Given the description of an element on the screen output the (x, y) to click on. 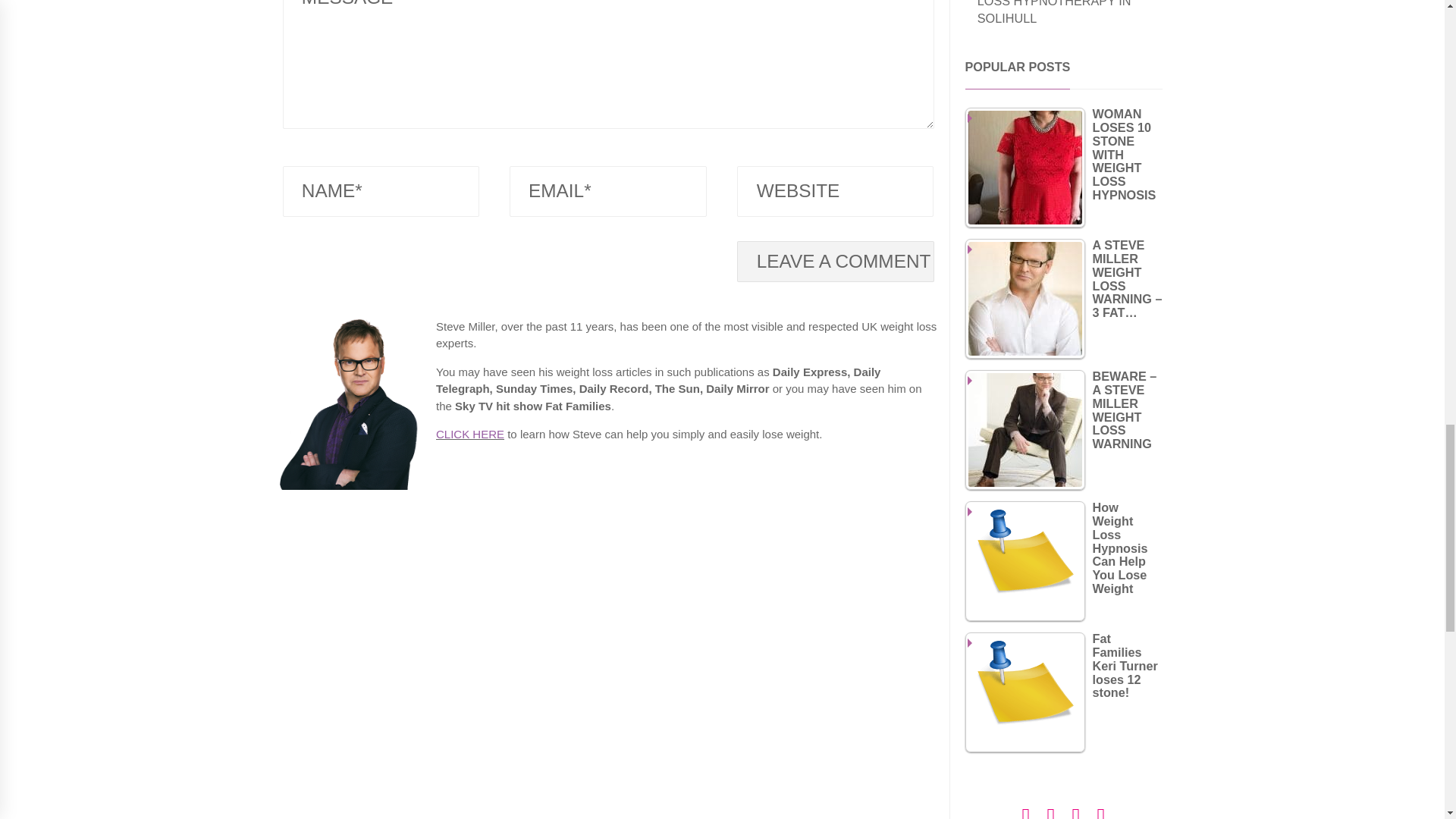
Fat Families Keri Turner loses 12 stone! (1023, 692)
Leave a Comment (834, 260)
WEBSITE (834, 191)
WOMAN LOSES 10 STONE WITH WEIGHT LOSS HYPNOSIS (1023, 167)
BEWARE - A STEVE MILLER WEIGHT LOSS WARNING (1023, 429)
How Weight Loss Hypnosis Can Help You Lose Weight (1023, 560)
